Given the description of an element on the screen output the (x, y) to click on. 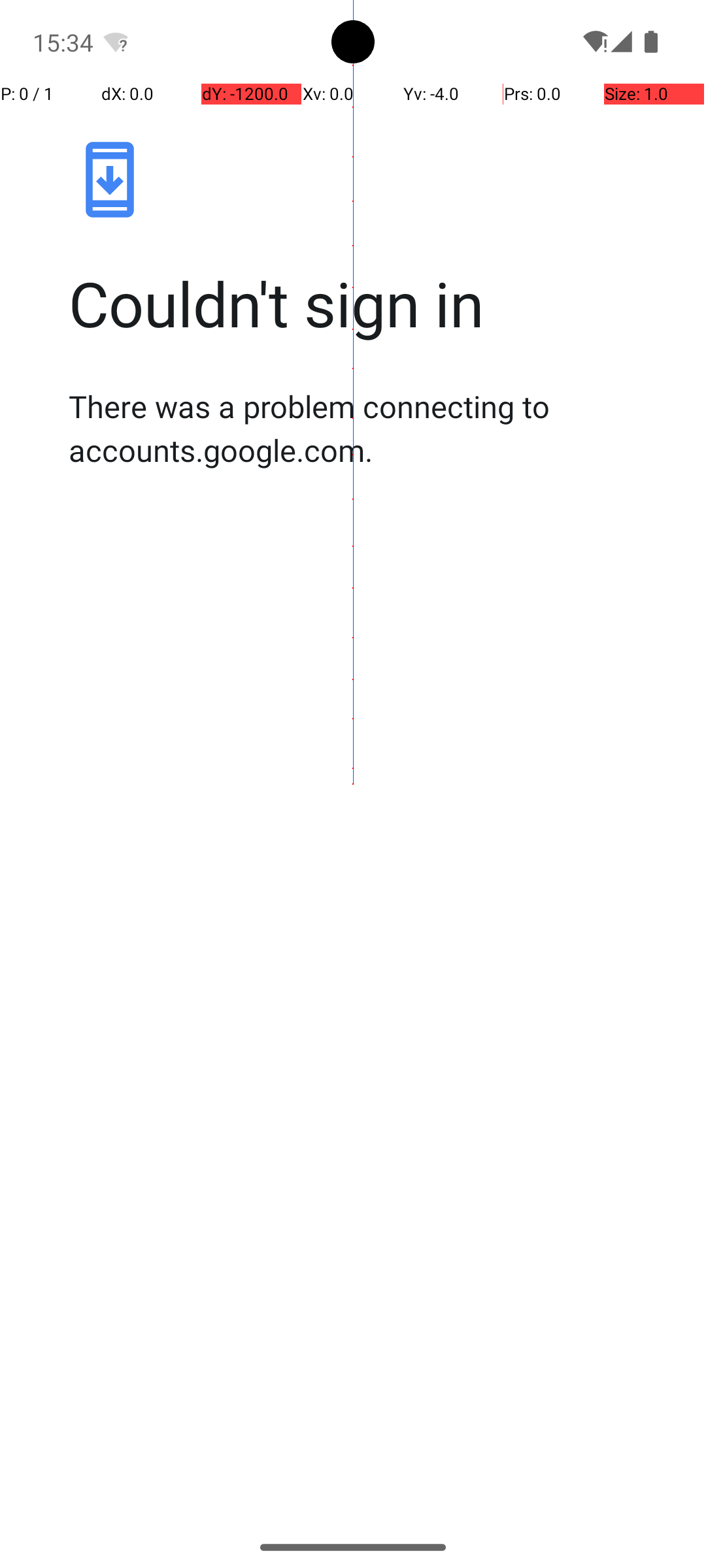
There was a problem connecting to accounts.google.com. Element type: android.widget.TextView (366, 427)
